Given the description of an element on the screen output the (x, y) to click on. 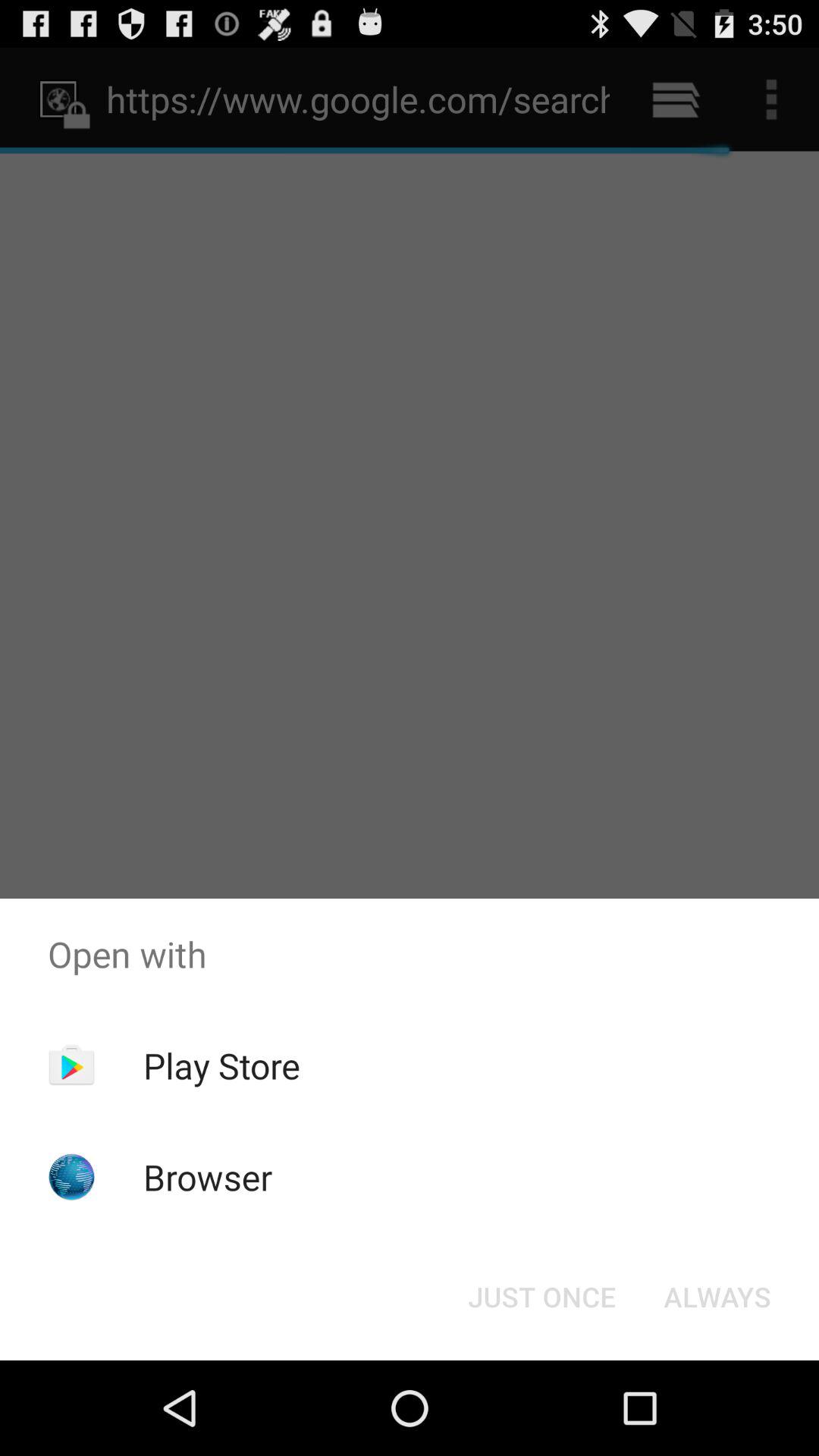
choose app above the browser icon (221, 1065)
